Given the description of an element on the screen output the (x, y) to click on. 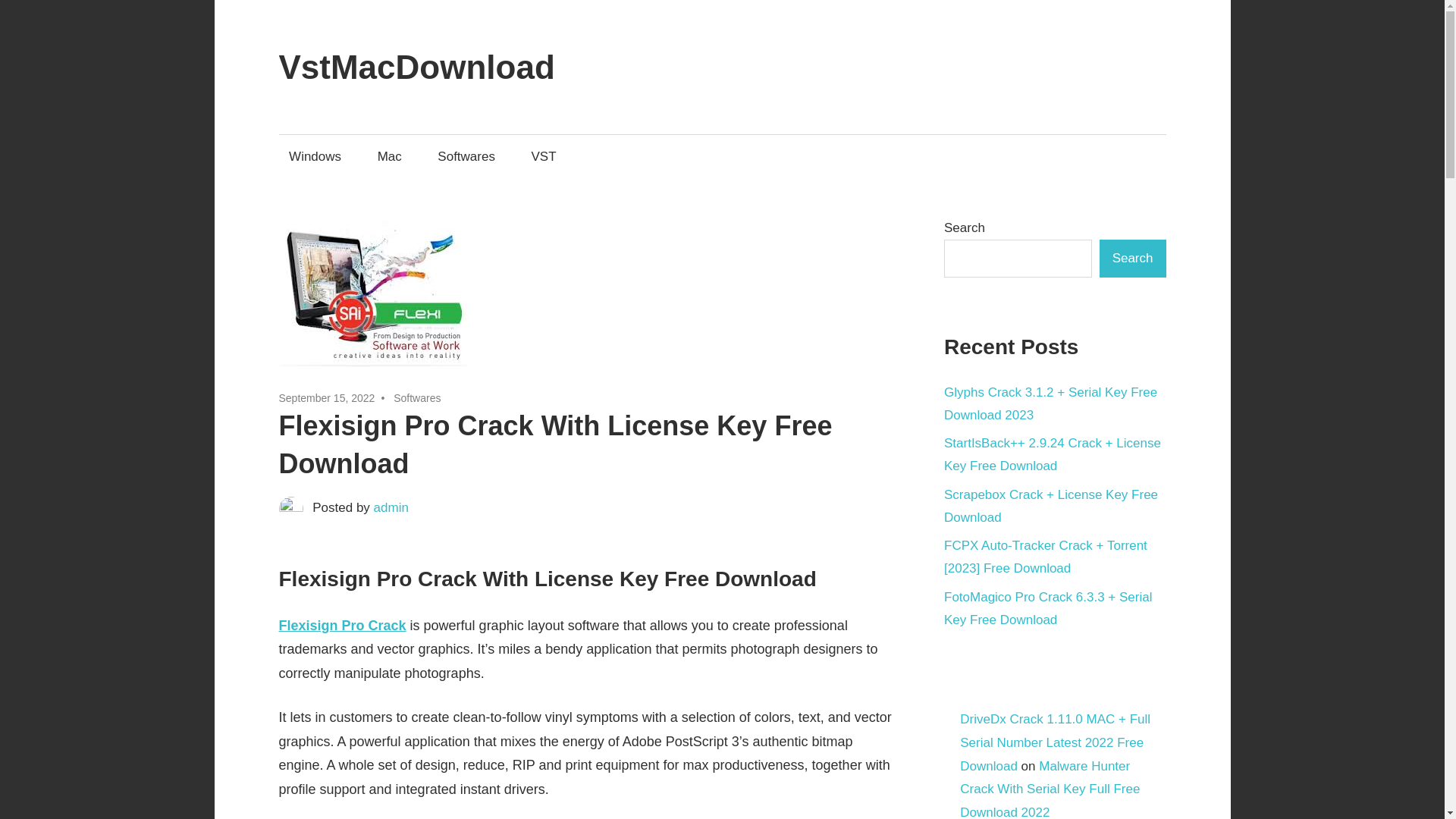
Softwares (417, 398)
VstMacDownload (416, 66)
Softwares (466, 156)
admin (391, 507)
Mac (389, 156)
September 15, 2022 (327, 398)
Flexisign Pro Crack (342, 625)
View all posts by admin (391, 507)
VST (543, 156)
10:25 am (327, 398)
